Given the description of an element on the screen output the (x, y) to click on. 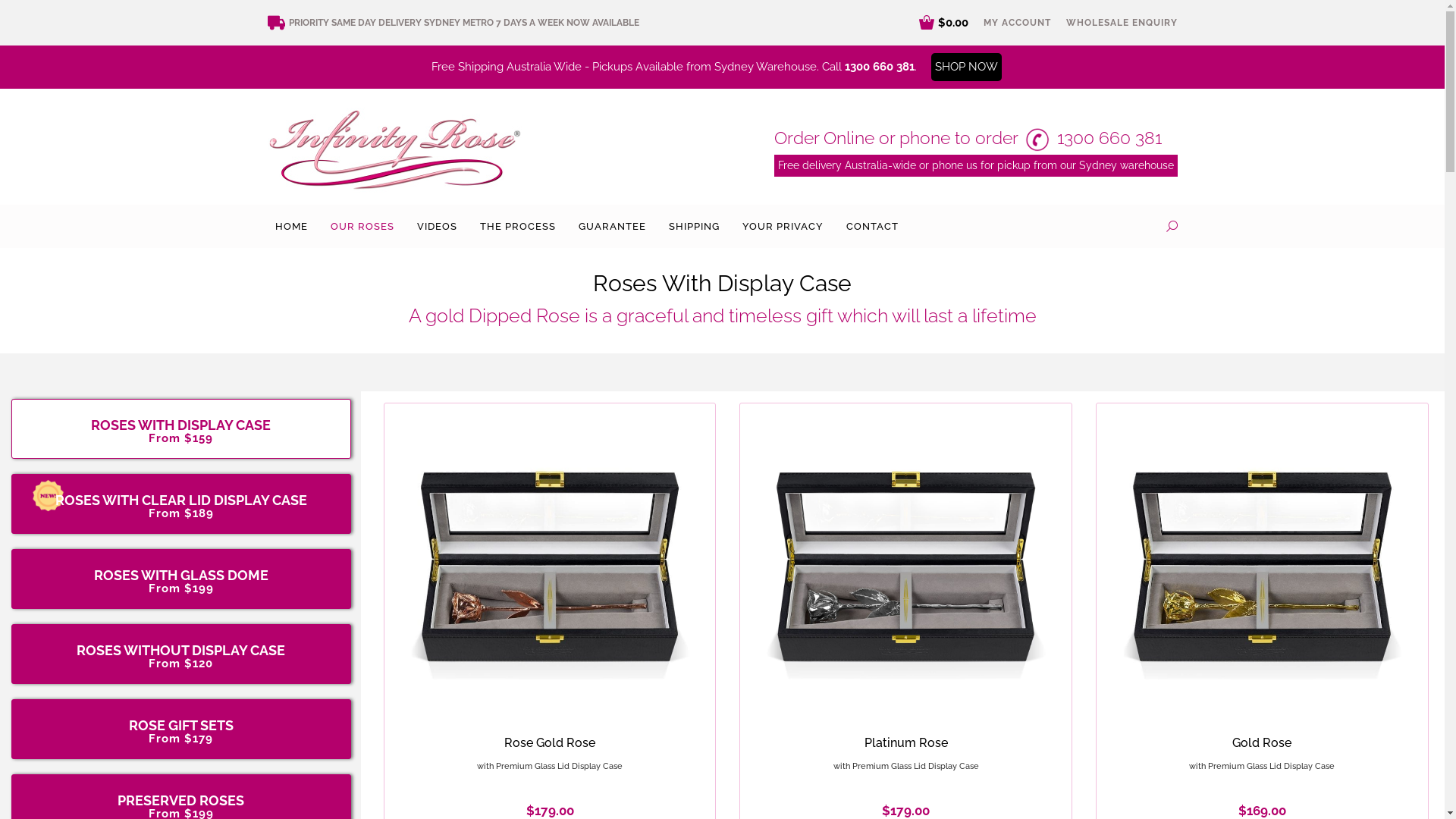
HOME Element type: text (290, 225)
MY ACCOUNT Element type: text (1016, 22)
WHOLESALE ENQUIRY Element type: text (1121, 22)
CONTACT Element type: text (872, 225)
ROSES WITH GLASS DOME
From $199 Element type: text (181, 574)
Platinum Rose
with Premium Glass Lid Display Case Element type: text (906, 752)
1300 660 381 Element type: text (1109, 137)
1300 660 381 Element type: text (879, 66)
Go! Element type: text (23, 15)
THE PROCESS Element type: text (516, 225)
$0.00 Element type: text (943, 22)
OUR ROSES Element type: text (362, 225)
VIDEOS Element type: text (436, 225)
SHIPPING Element type: text (694, 225)
ROSES WITHOUT DISPLAY CASE
From $120 Element type: text (181, 649)
ROSE GIFT SETS
From $179 Element type: text (181, 724)
Gold Rose
with Premium Glass Lid Display Case Element type: text (1261, 752)
YOUR PRIVACY Element type: text (782, 225)
GUARANTEE Element type: text (611, 225)
Order Online Element type: text (823, 137)
SHOP NOW Element type: text (966, 67)
Rose Gold Rose
with Premium Glass Lid Display Case Element type: text (549, 752)
ROSES WITH DISPLAY CASE
From $159 Element type: text (181, 424)
ROSES WITH CLEAR LID DISPLAY CASE
From $189 Element type: text (181, 499)
